Given the description of an element on the screen output the (x, y) to click on. 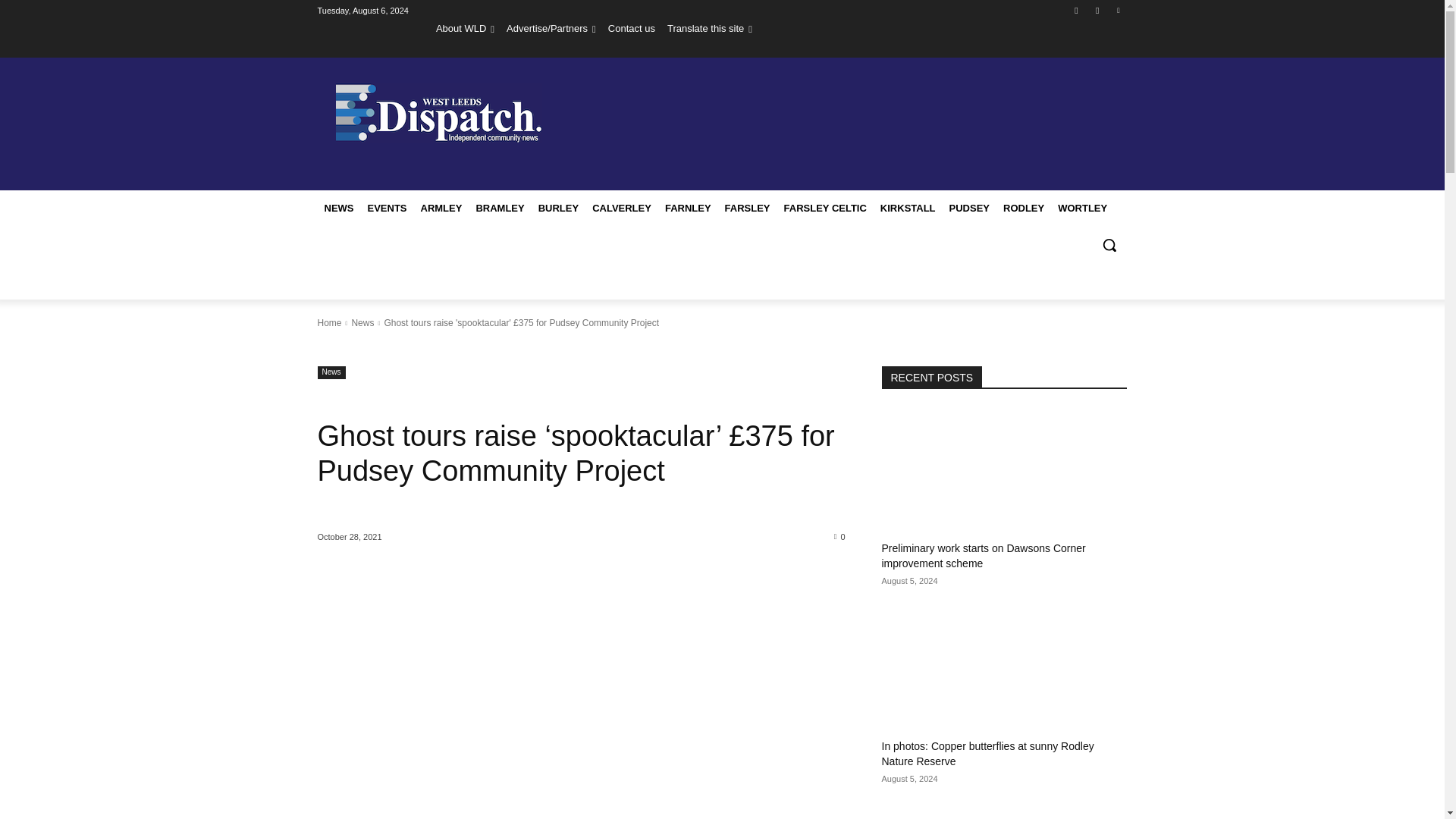
Contact us (631, 28)
About WLD (465, 28)
Translate this site (709, 28)
